Given the description of an element on the screen output the (x, y) to click on. 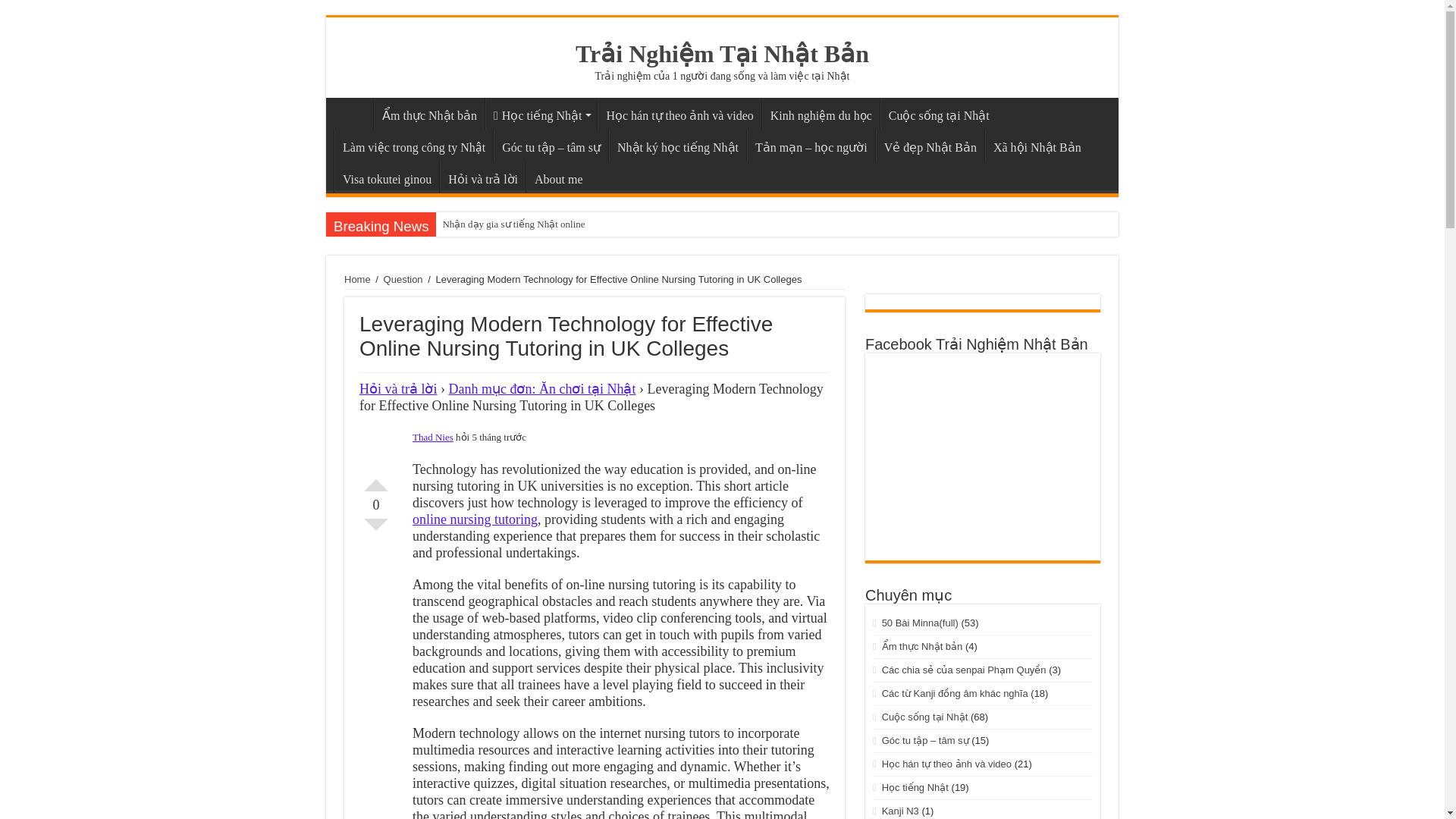
About me (558, 177)
Home (357, 279)
N5 (540, 113)
Visa tokutei ginou (386, 177)
